Given the description of an element on the screen output the (x, y) to click on. 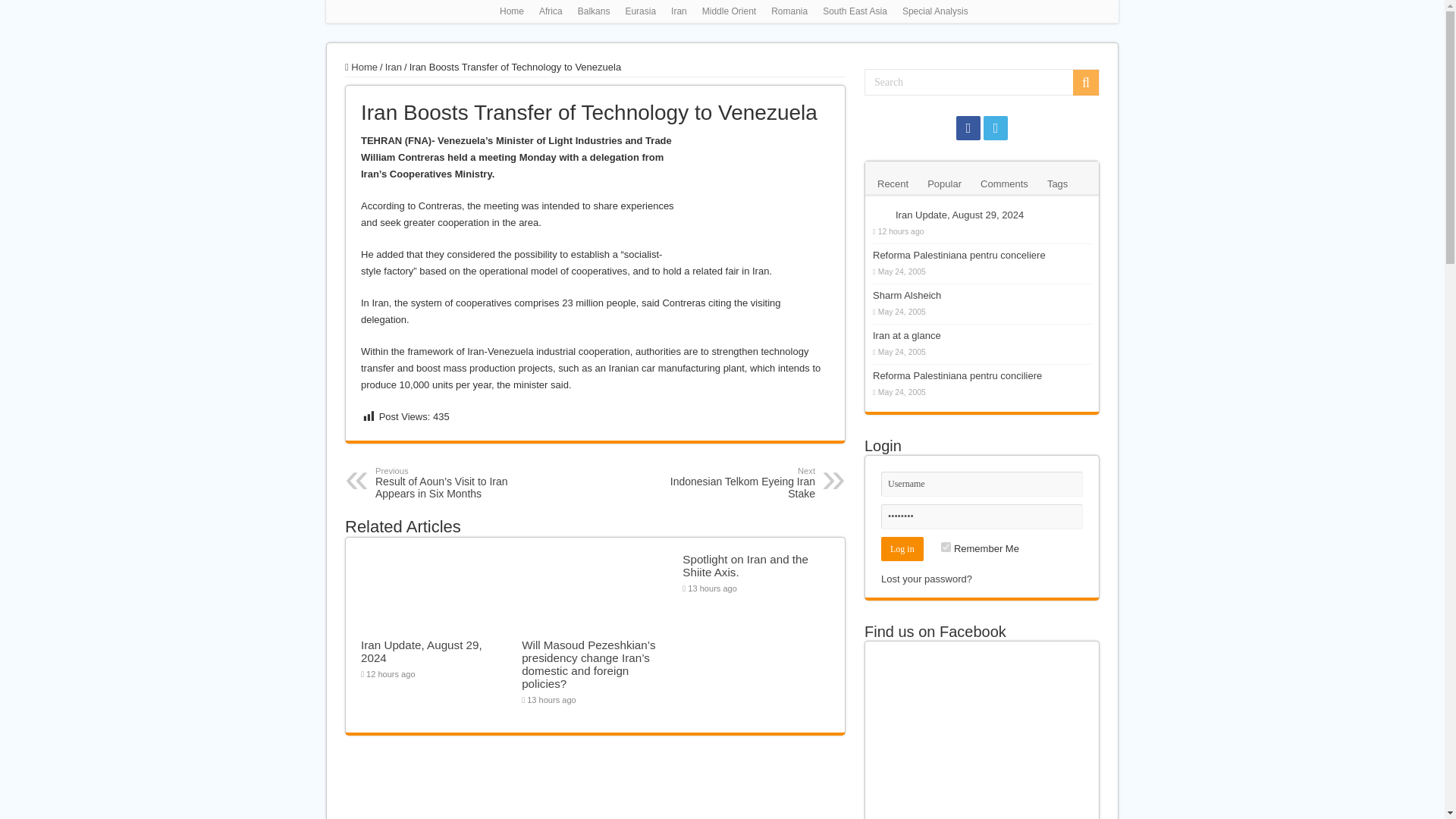
Password (981, 516)
Search (981, 81)
Balkans (593, 11)
Popular (944, 182)
Recent (892, 182)
Iran Update, August 29, 2024 (421, 651)
Comments (1004, 182)
Iran (678, 11)
Twitter (995, 128)
South East Asia (855, 11)
